Given the description of an element on the screen output the (x, y) to click on. 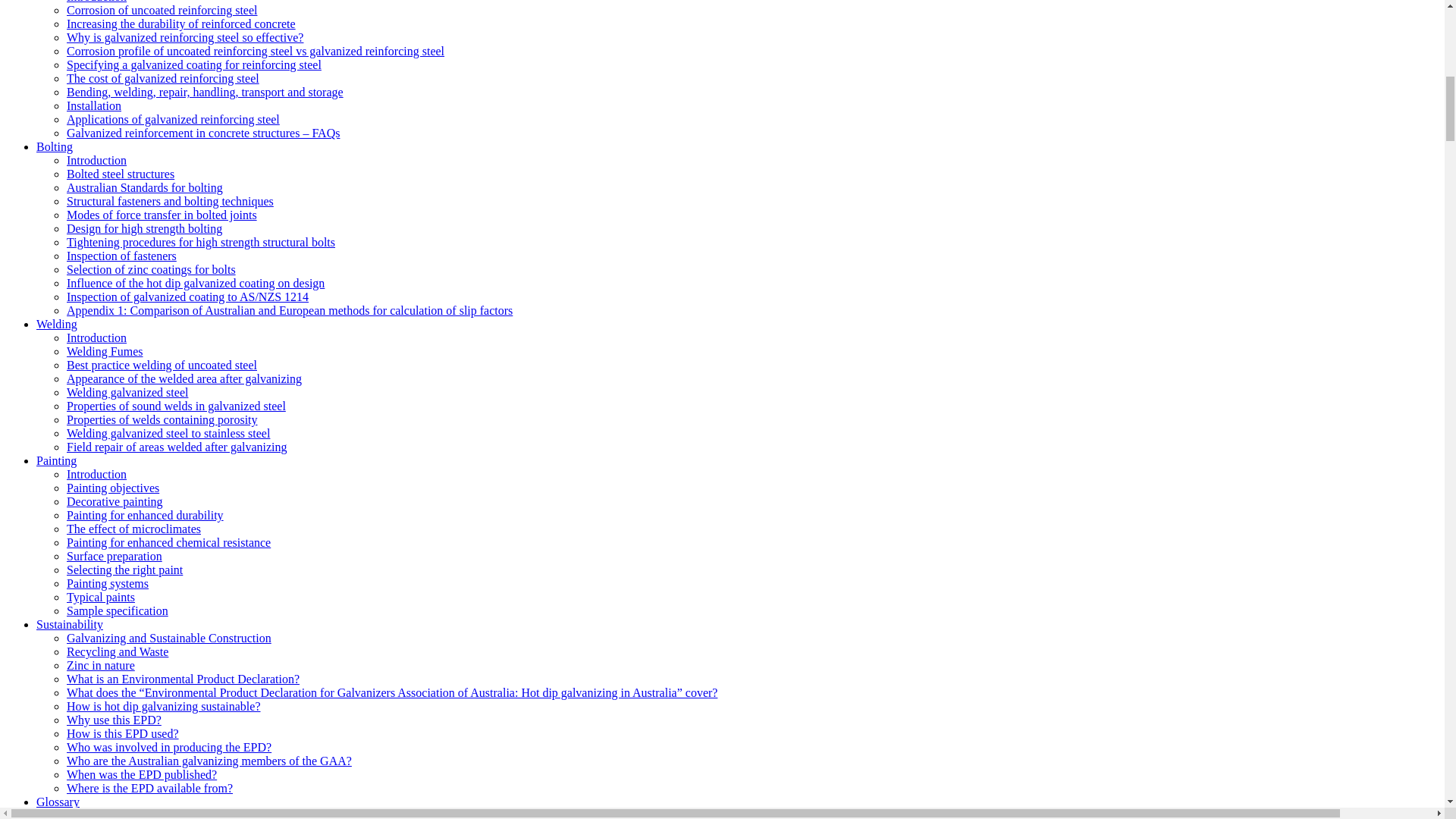
Bending, welding, repair, handling, transport and storage (204, 91)
Why is galvanized reinforcing steel so effective? (184, 37)
Corrosion of uncoated reinforcing steel (161, 10)
The cost of galvanized reinforcing steel (162, 78)
Specifying a galvanized coating for reinforcing steel (193, 64)
Introduction (96, 1)
Increasing the durability of reinforced concrete (180, 23)
